Given the description of an element on the screen output the (x, y) to click on. 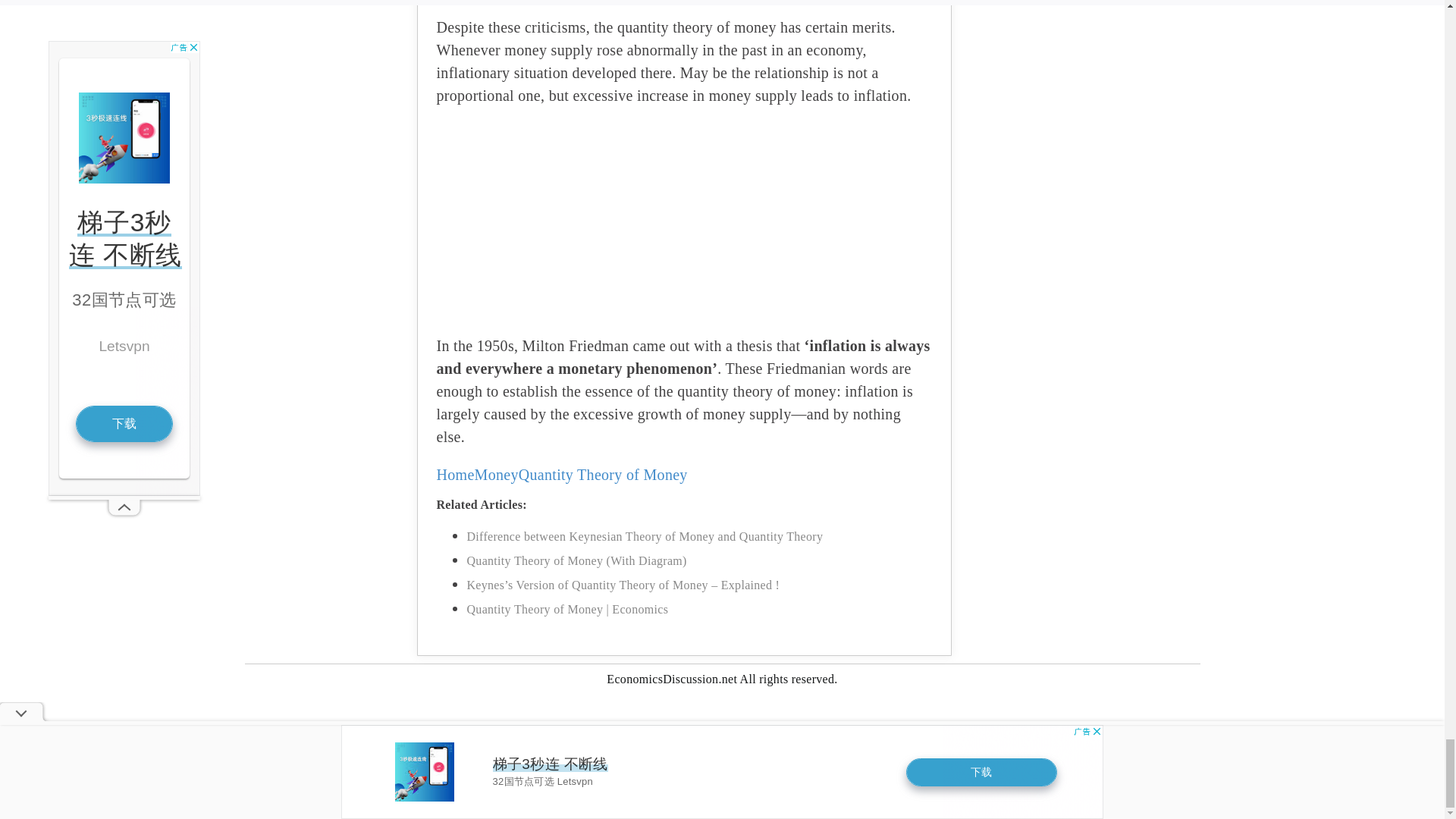
Money (496, 474)
Home (455, 474)
Quantity Theory of Money (602, 474)
